Given the description of an element on the screen output the (x, y) to click on. 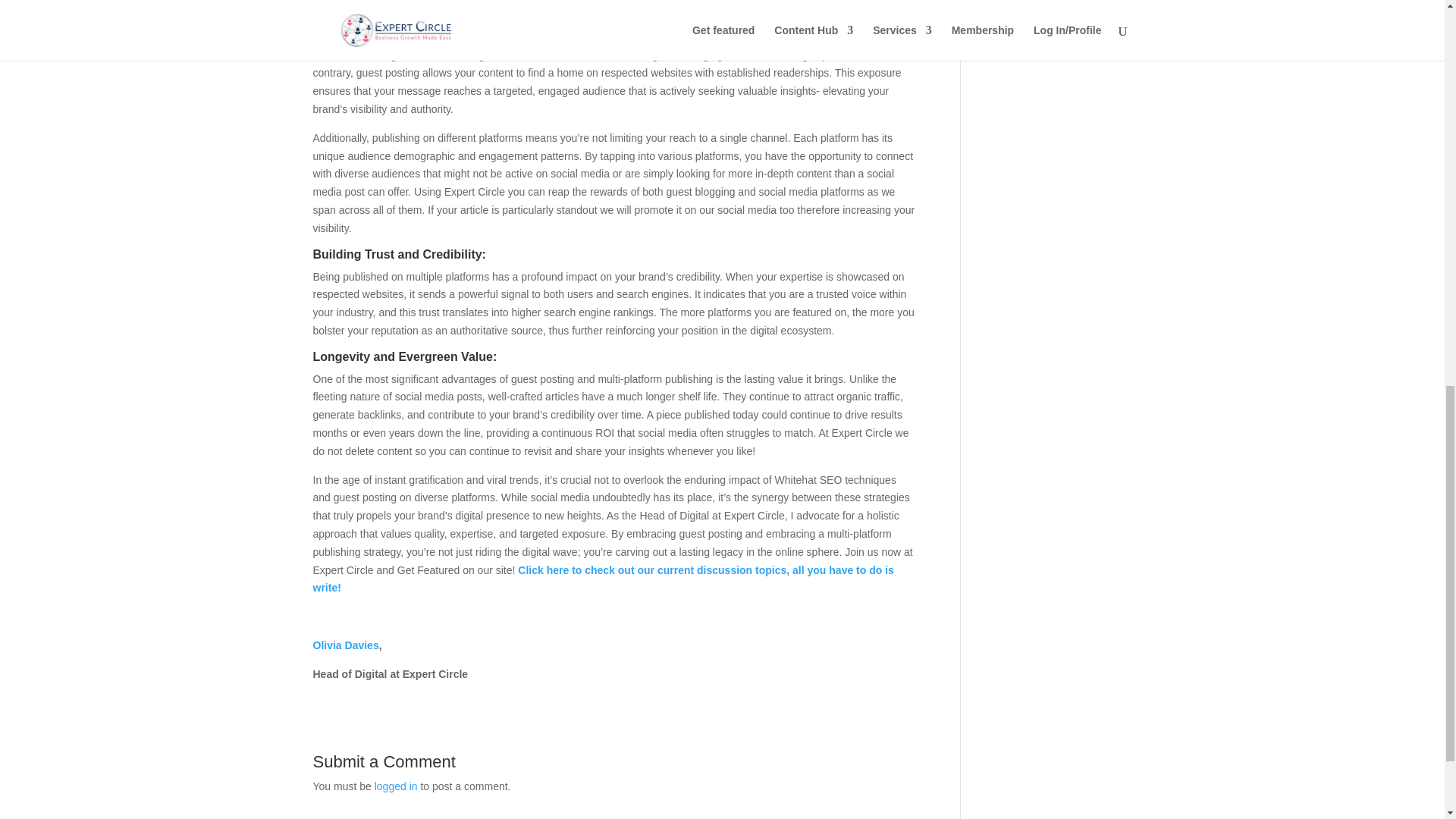
Olivia Davies (345, 645)
logged in (395, 786)
